Given the description of an element on the screen output the (x, y) to click on. 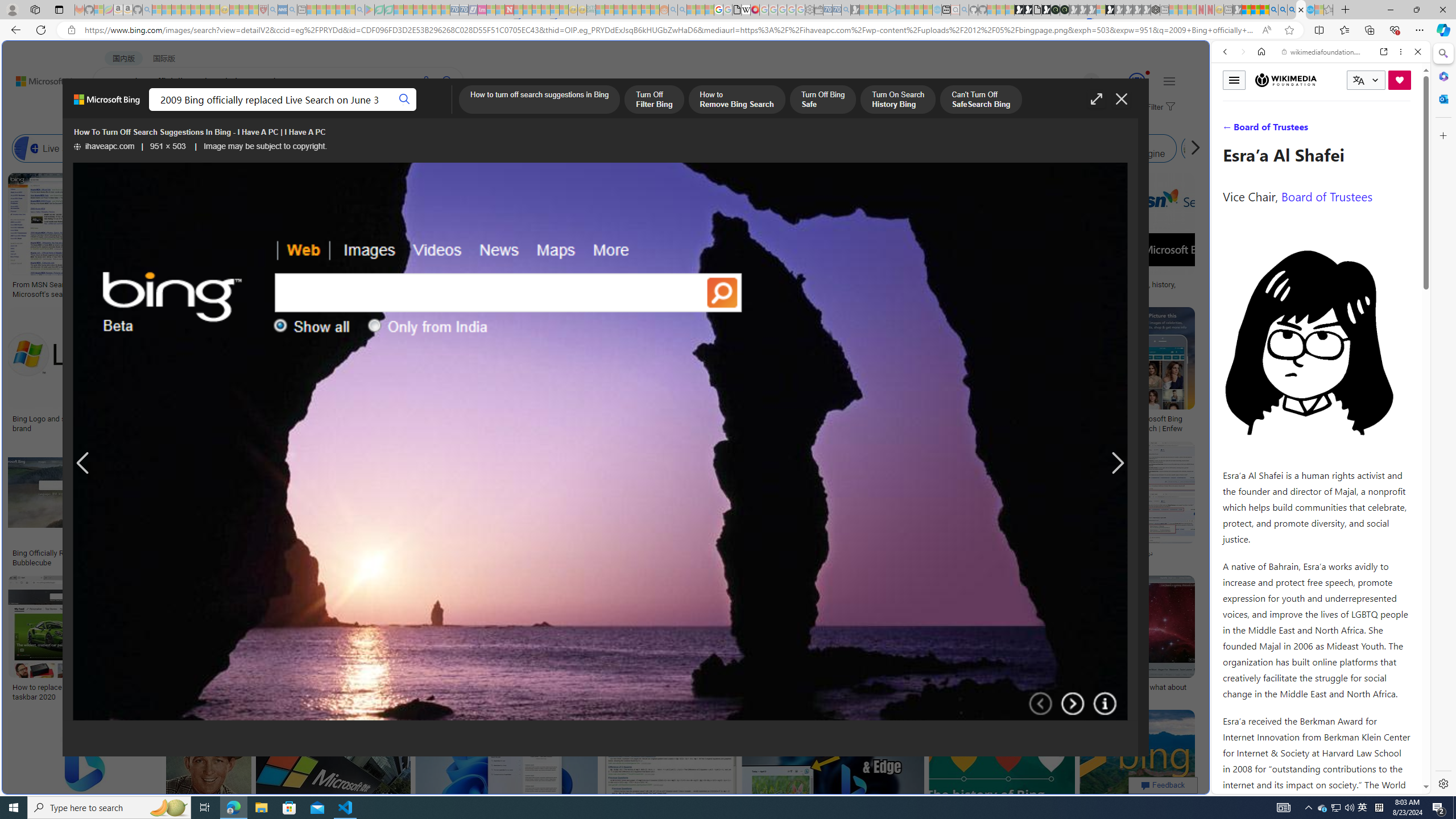
Bing Word Search (403, 148)
Toggle menu (1233, 80)
Bing Logo and symbol, meaning, history, PNG, brand (97, 423)
MSN Homepage Bing Search Engine (815, 148)
Frequently visited (965, 151)
